Given the description of an element on the screen output the (x, y) to click on. 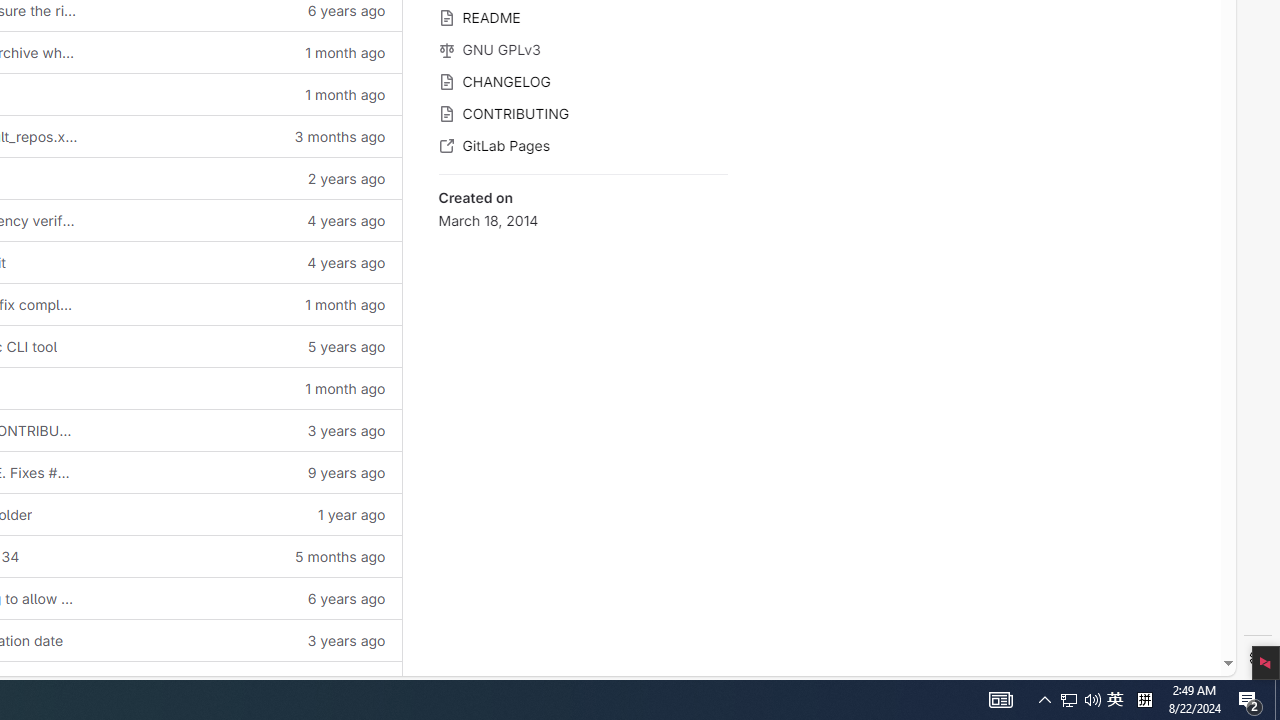
2 years ago (247, 178)
3 months ago (247, 136)
6 years ago (247, 597)
5 years ago (247, 345)
5 months ago (247, 556)
1 month ago (247, 388)
GitLab Pages (582, 144)
CHANGELOG (582, 80)
GNU GPLv3 (582, 48)
3 years ago (247, 640)
4 years ago (247, 262)
README (582, 16)
CONTRIBUTING (582, 111)
CHANGELOG (582, 80)
